Given the description of an element on the screen output the (x, y) to click on. 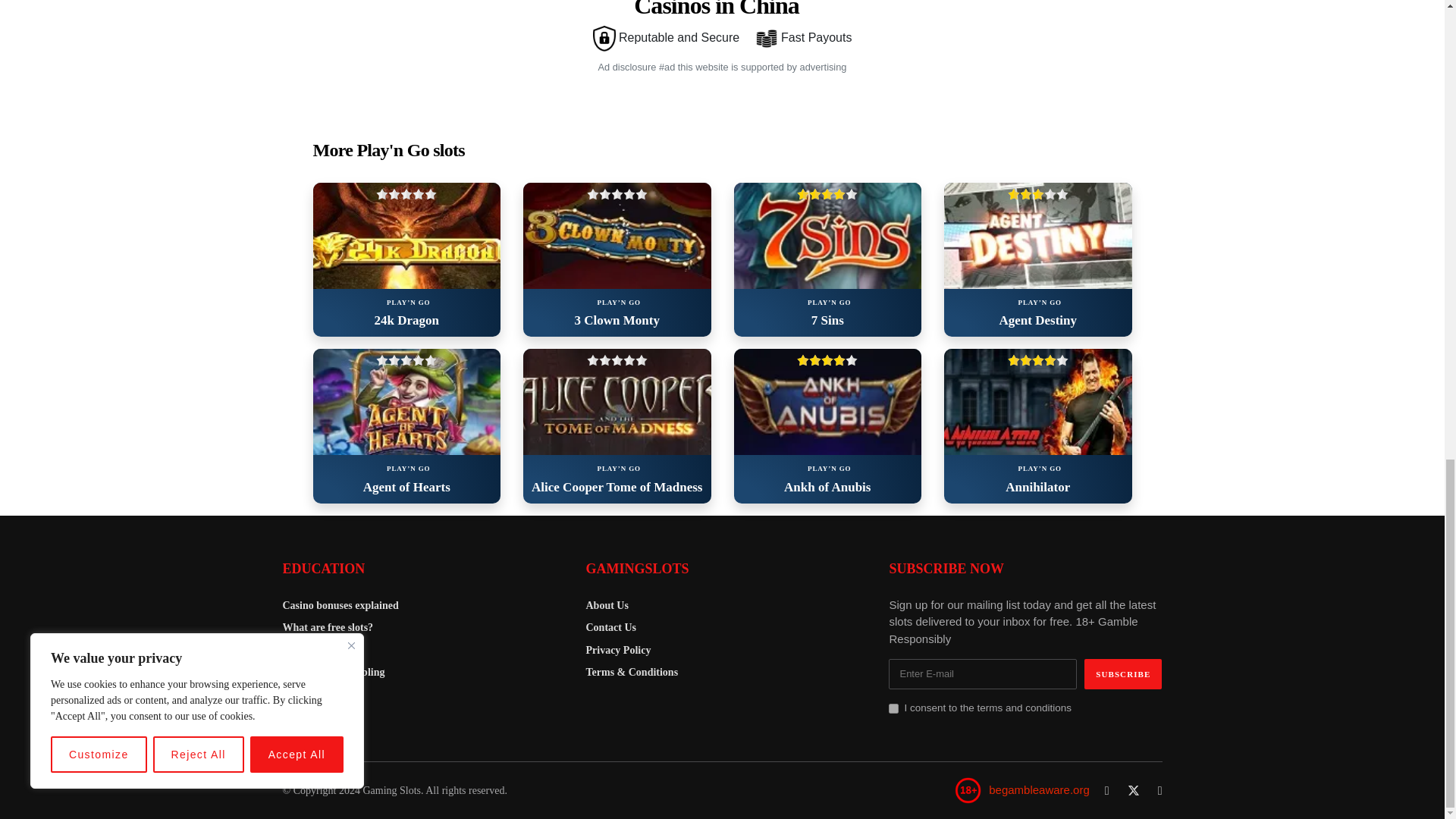
3 Clown Monty slot (616, 235)
Subscribe (1122, 674)
Agent Destiny slot (1037, 235)
1 (893, 708)
24k Dragon slot (406, 235)
7 Sins slot (827, 235)
